Given the description of an element on the screen output the (x, y) to click on. 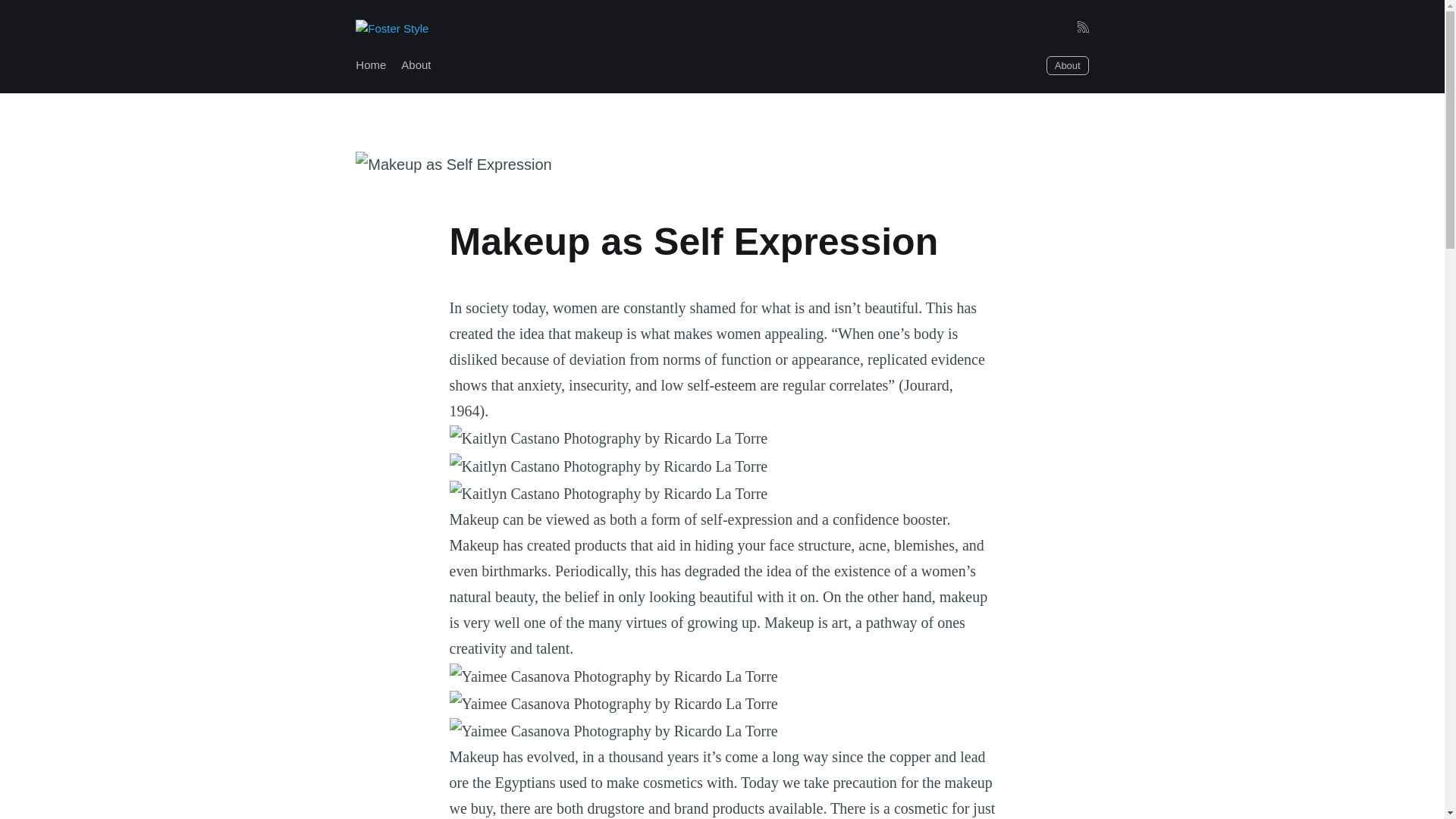
Home (370, 64)
About (1067, 65)
About (415, 64)
